Given the description of an element on the screen output the (x, y) to click on. 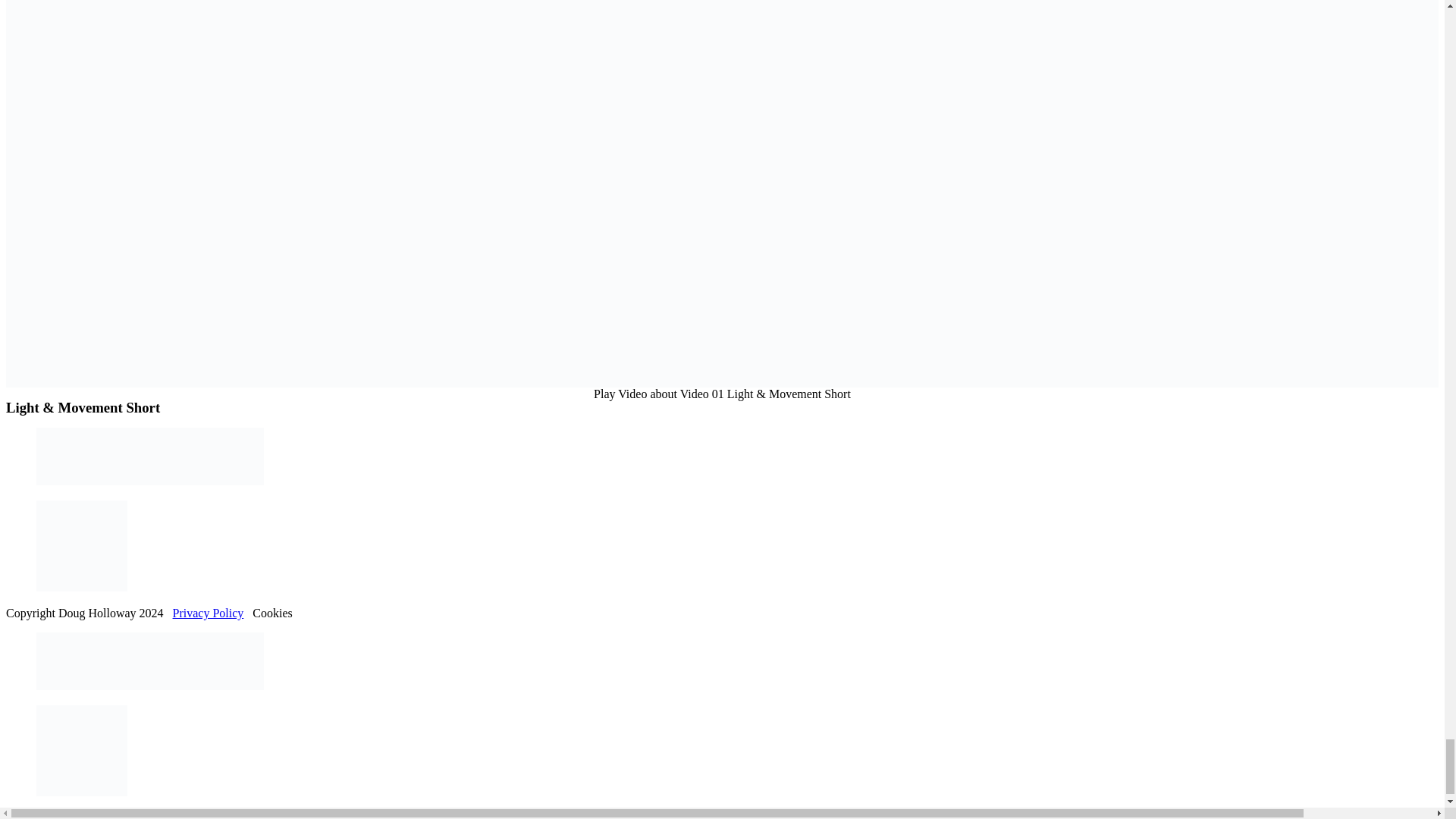
Privacy Policy (208, 612)
Cookies (271, 612)
